Given the description of an element on the screen output the (x, y) to click on. 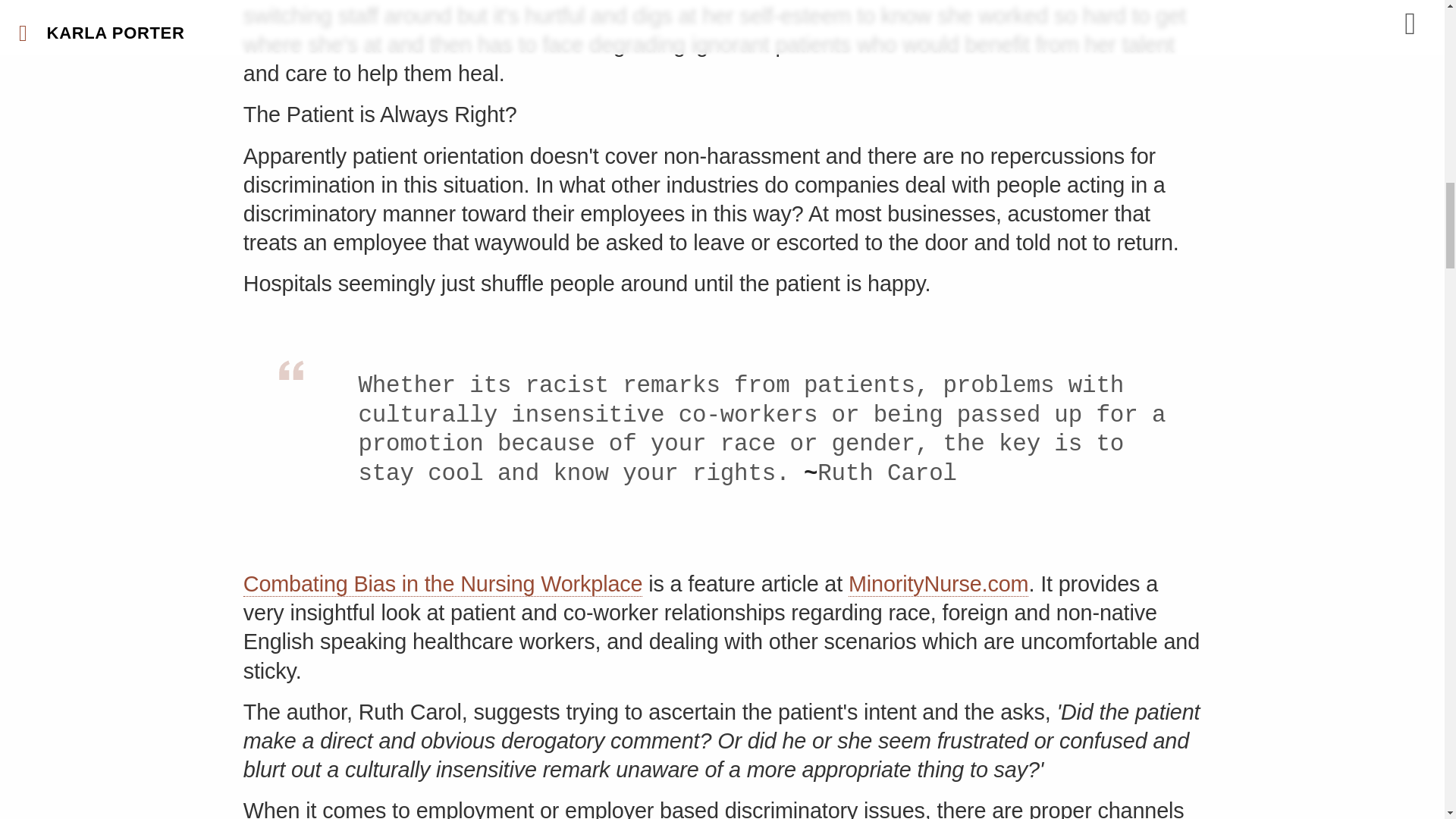
Combating Bias in the Nursing Workplace (443, 584)
MinorityNurse.com (937, 584)
